Given the description of an element on the screen output the (x, y) to click on. 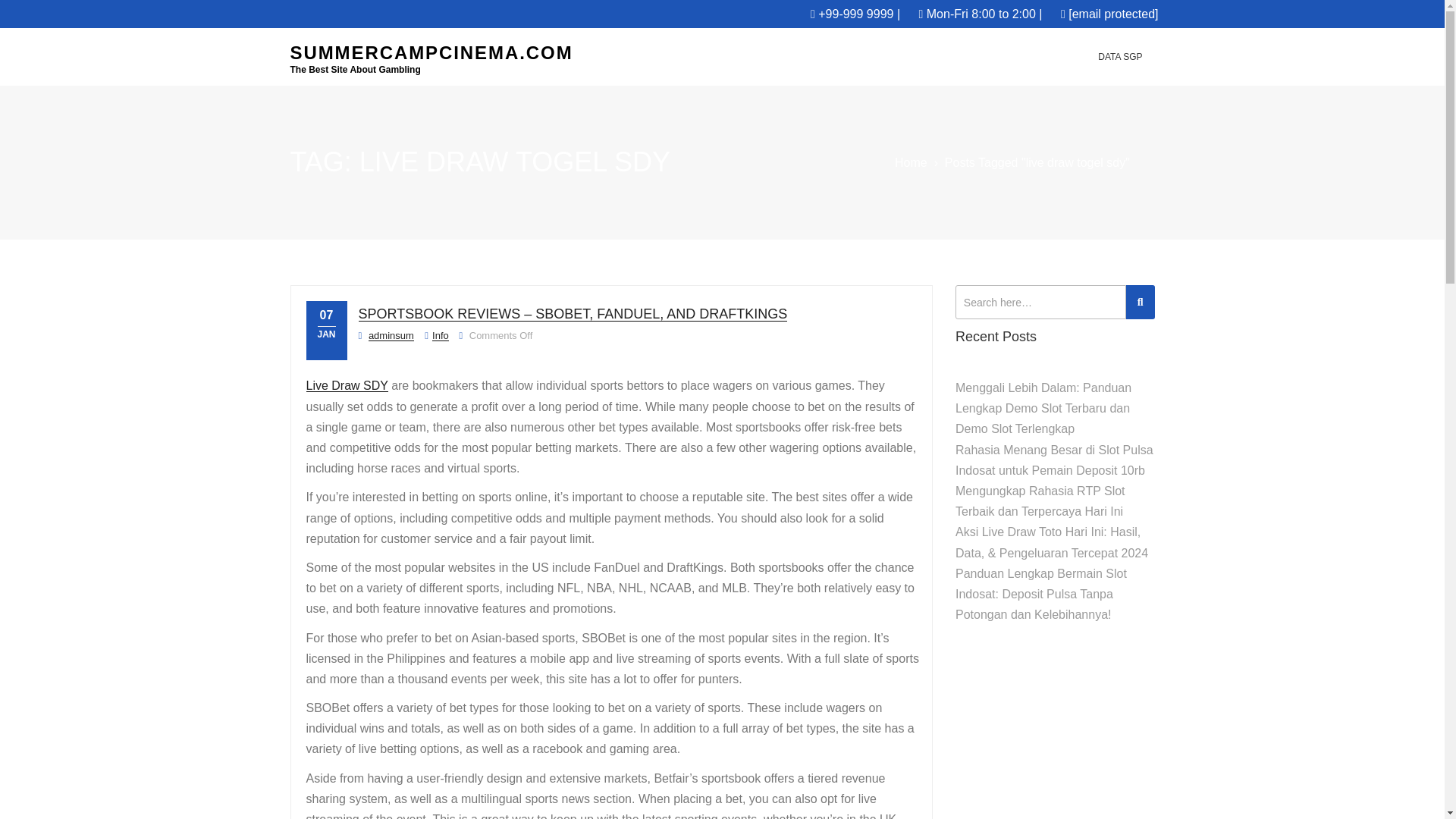
SUMMERCAMPCINEMA.COM (430, 52)
DATA SGP (1120, 56)
Mengungkap Rahasia RTP Slot Terbaik dan Terpercaya Hari Ini (1040, 500)
adminsum (390, 335)
Live Draw SDY (346, 385)
Info (440, 335)
Home (911, 162)
